Given the description of an element on the screen output the (x, y) to click on. 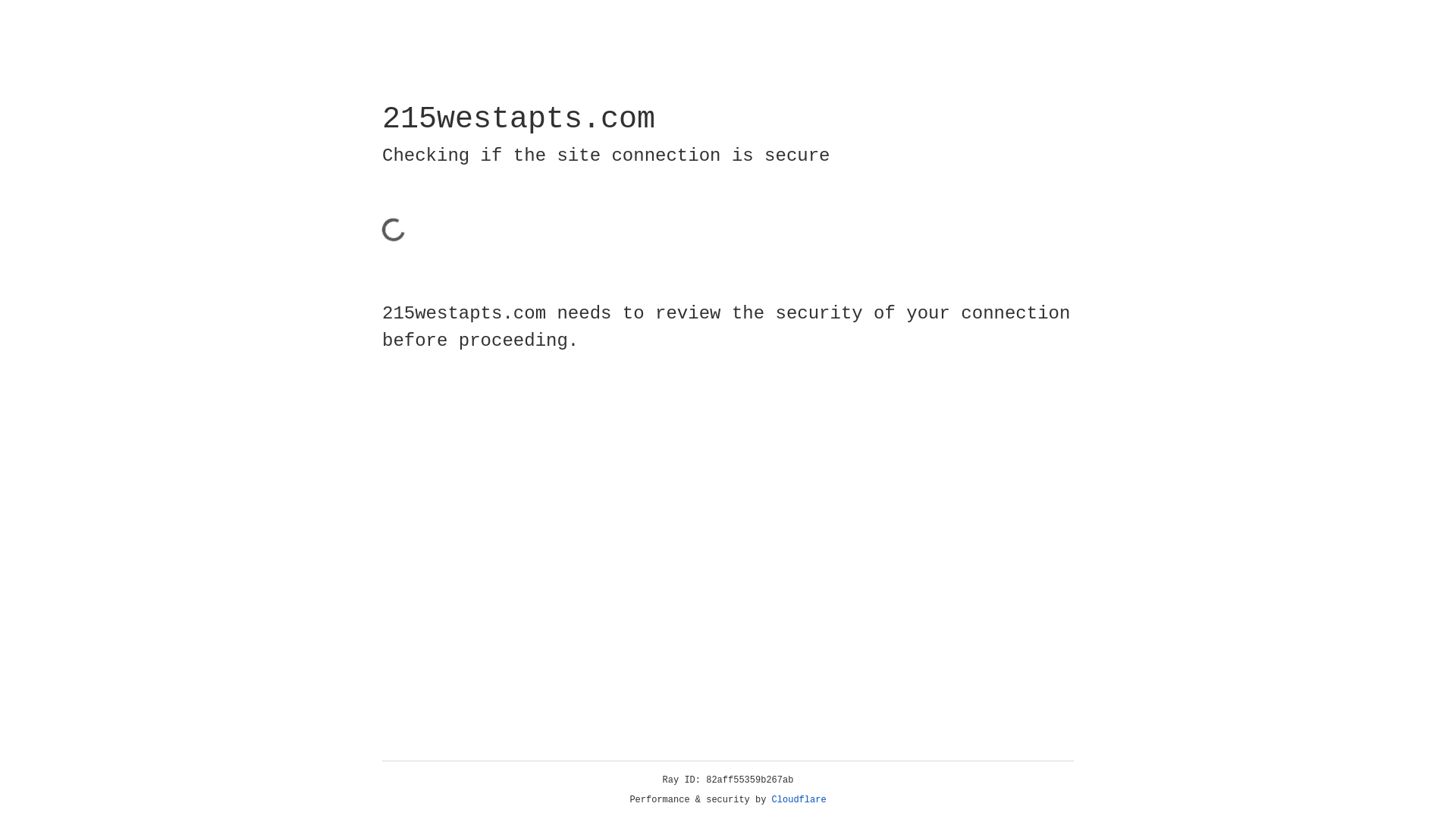
Cloudflare Element type: text (798, 799)
